Given the description of an element on the screen output the (x, y) to click on. 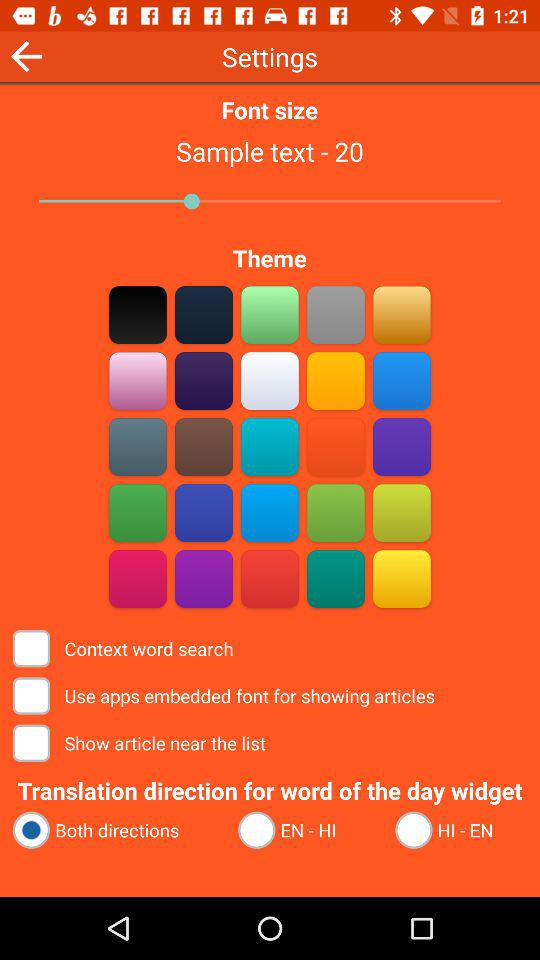
pick orange theme color (269, 578)
